Given the description of an element on the screen output the (x, y) to click on. 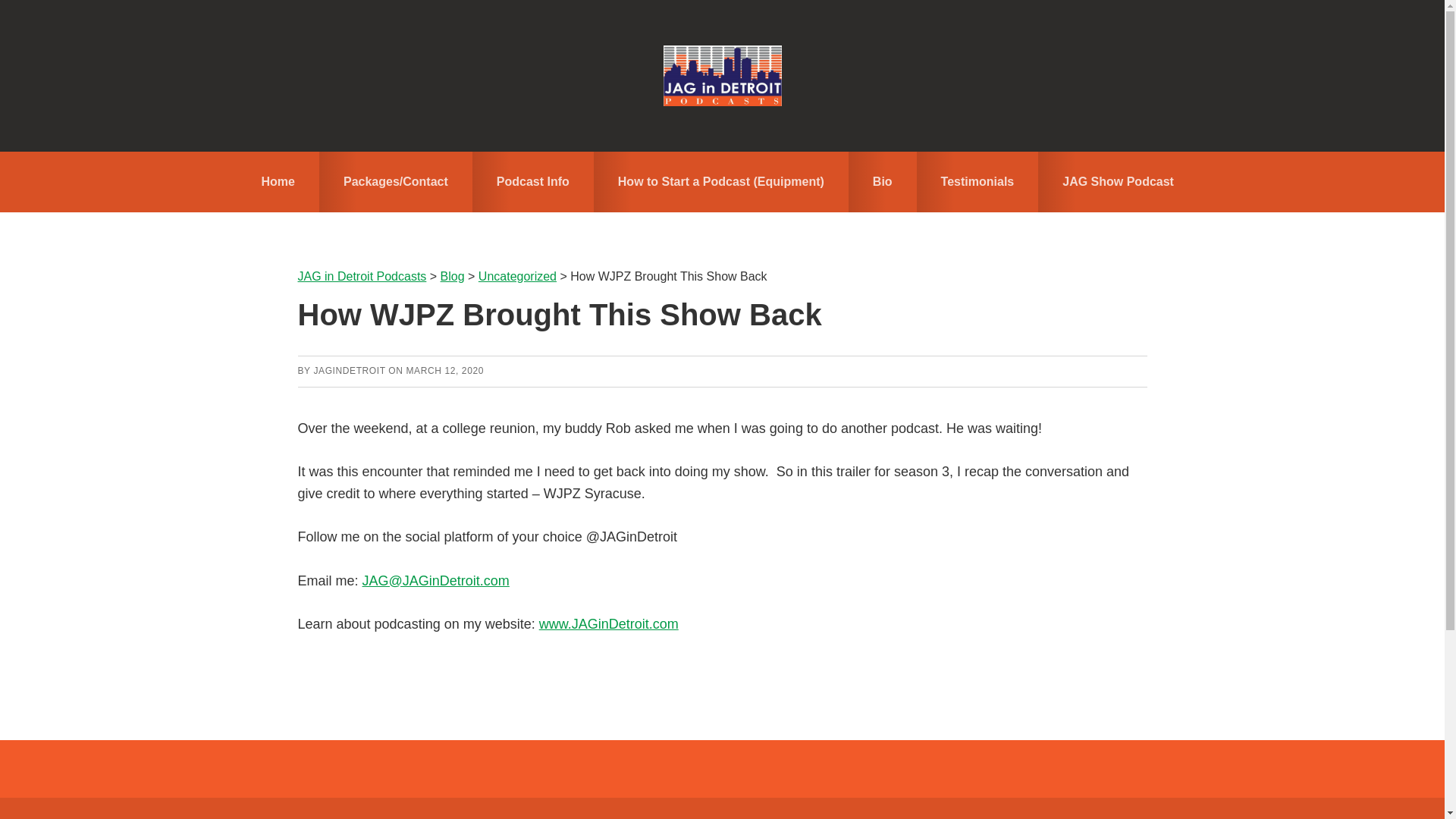
Blog (452, 276)
Podcast Info (532, 181)
Bio (971, 808)
Go to Blog. (452, 276)
Home (353, 808)
JAGINDETROIT (349, 370)
Podcast Info (615, 808)
Testimonials (978, 181)
JAG in Detroit Podcasts (722, 75)
Go to the Uncategorized Category archives. (517, 276)
Testimonials (1070, 808)
Home (276, 181)
Bio (882, 181)
JAG in Detroit Podcasts (361, 276)
